Given the description of an element on the screen output the (x, y) to click on. 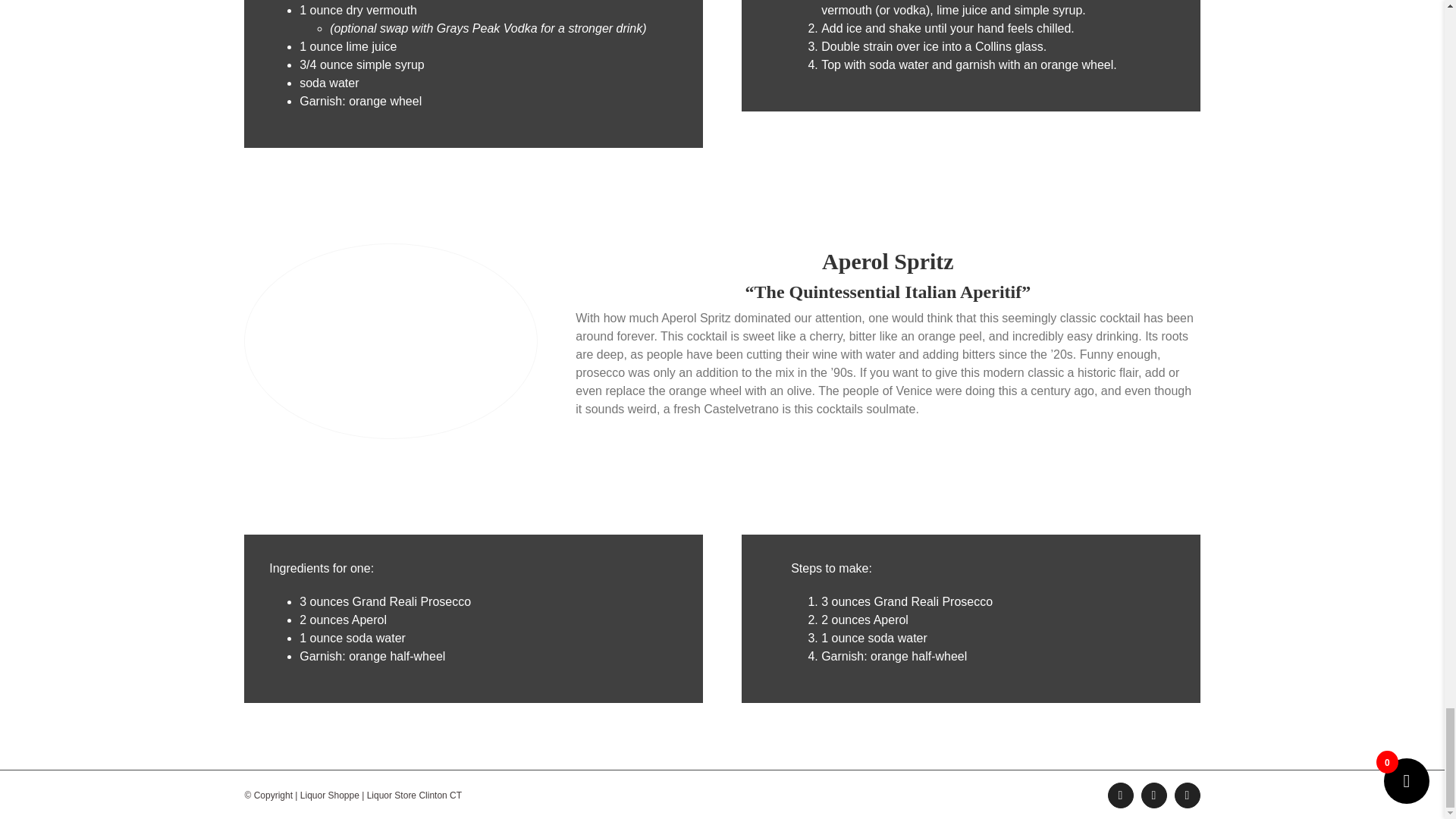
Prosciutto Wrapped Dates (389, 341)
X (1153, 795)
Instagram (1186, 795)
Facebook (1119, 795)
